Given the description of an element on the screen output the (x, y) to click on. 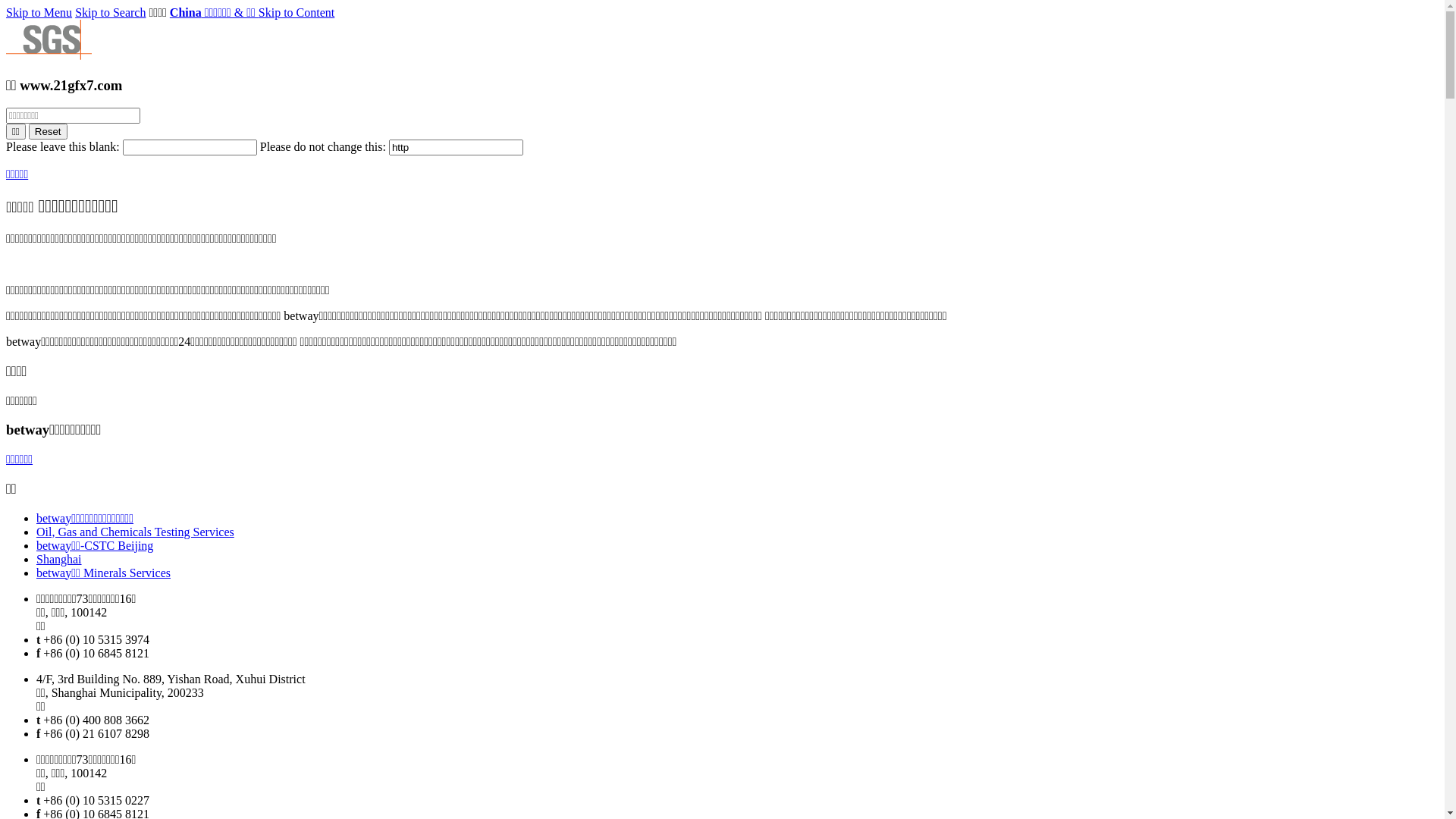
Skip to Search Element type: text (110, 12)
+86 (0) 400 808 3662 Element type: text (96, 719)
Skip to Content Element type: text (296, 12)
Reset Element type: text (47, 131)
Oil, Gas and Chemicals Testing Services Element type: text (135, 531)
Shanghai Element type: text (58, 558)
+86 (0) 10 5315 0227 Element type: text (96, 799)
+86 (0) 10 5315 3974 Element type: text (96, 639)
Skip to Menu Element type: text (39, 12)
